Given the description of an element on the screen output the (x, y) to click on. 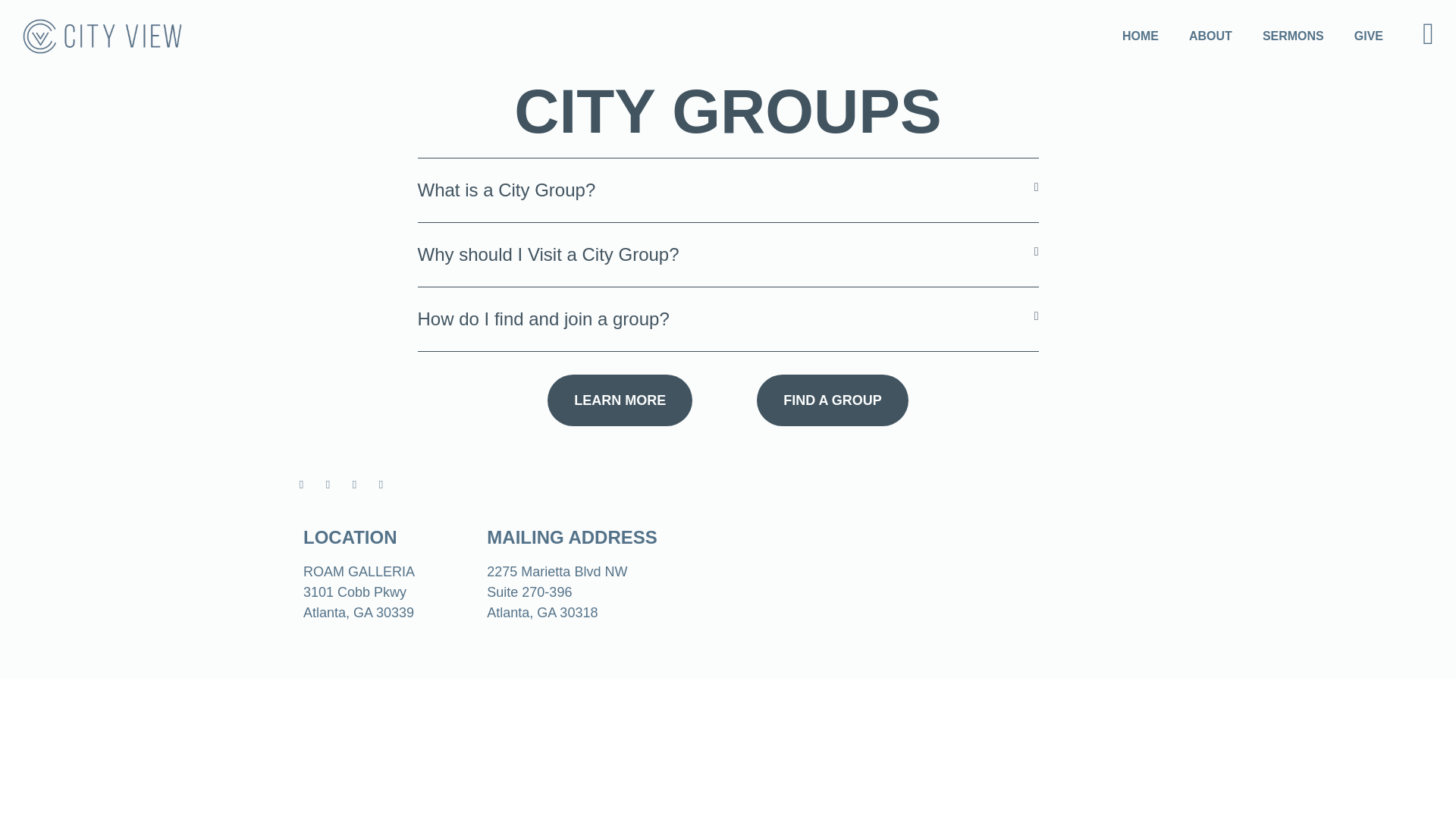
HOME (1139, 36)
GIVE (1367, 36)
3101 Cobb Pkwy (354, 591)
LEARN MORE (620, 399)
Suite 270-396 (529, 591)
Atlanta, GA 30318 (541, 612)
ROAM GALLERIA (358, 571)
Atlanta, GA 30339 (357, 612)
ABOUT (1210, 36)
SERMONS (1292, 36)
